Given the description of an element on the screen output the (x, y) to click on. 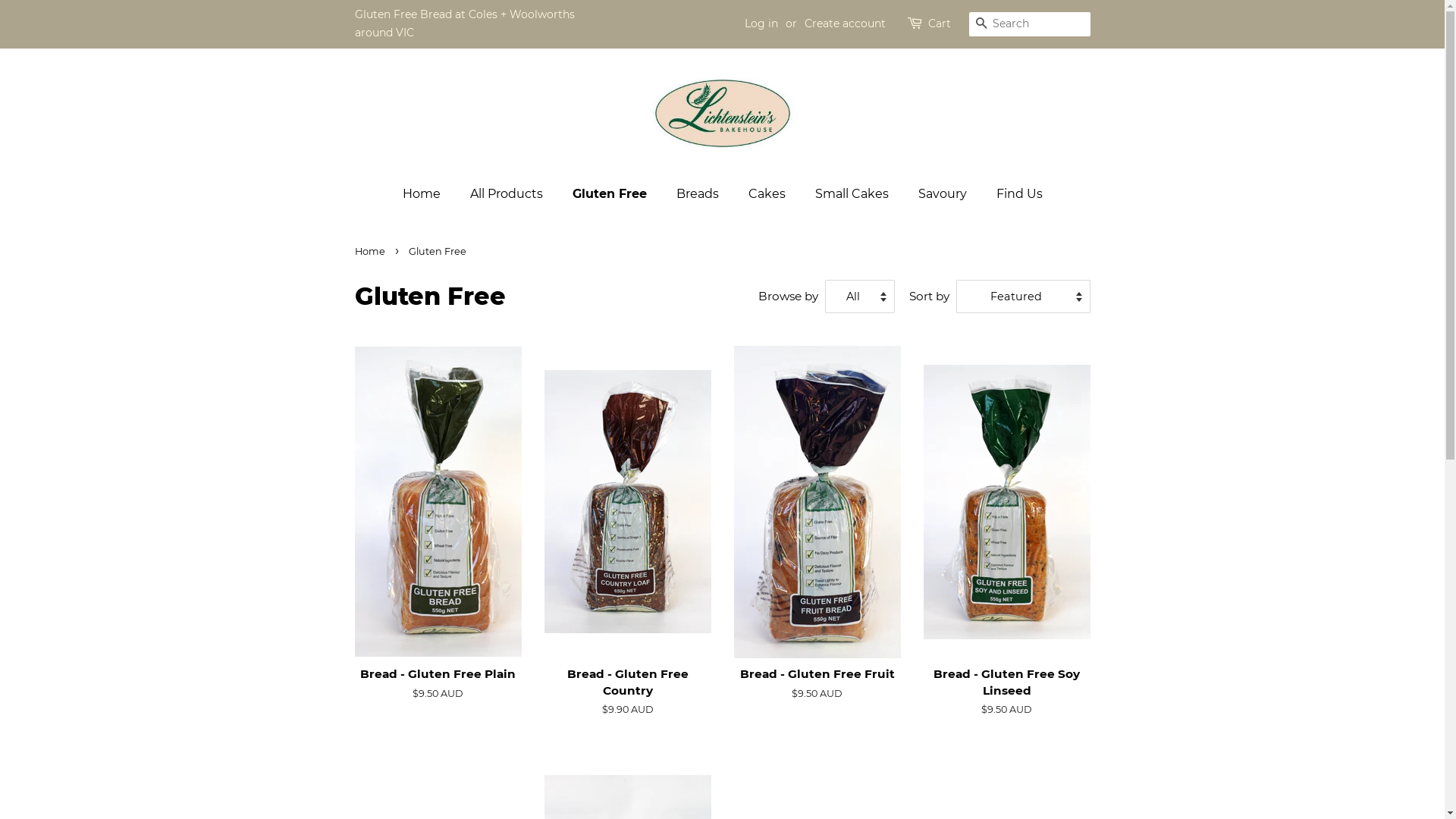
Savoury Element type: text (944, 193)
Breads Element type: text (698, 193)
Find Us Element type: text (1012, 193)
Create account Element type: text (843, 23)
Gluten Free Element type: text (611, 193)
Bread - Gluten Free Plain
Regular price
$9.50 AUD Element type: text (437, 536)
Bread - Gluten Free Fruit
Regular price
$9.50 AUD Element type: text (817, 536)
Home Element type: text (428, 193)
Home Element type: text (371, 251)
Cart Element type: text (939, 24)
Log in Element type: text (761, 23)
Search Element type: text (981, 24)
Bread - Gluten Free Country
Regular price
$9.90 AUD Element type: text (627, 544)
All Products Element type: text (507, 193)
Small Cakes Element type: text (853, 193)
Bread - Gluten Free Soy Linseed
Regular price
$9.50 AUD Element type: text (1006, 544)
Cakes Element type: text (768, 193)
